Given the description of an element on the screen output the (x, y) to click on. 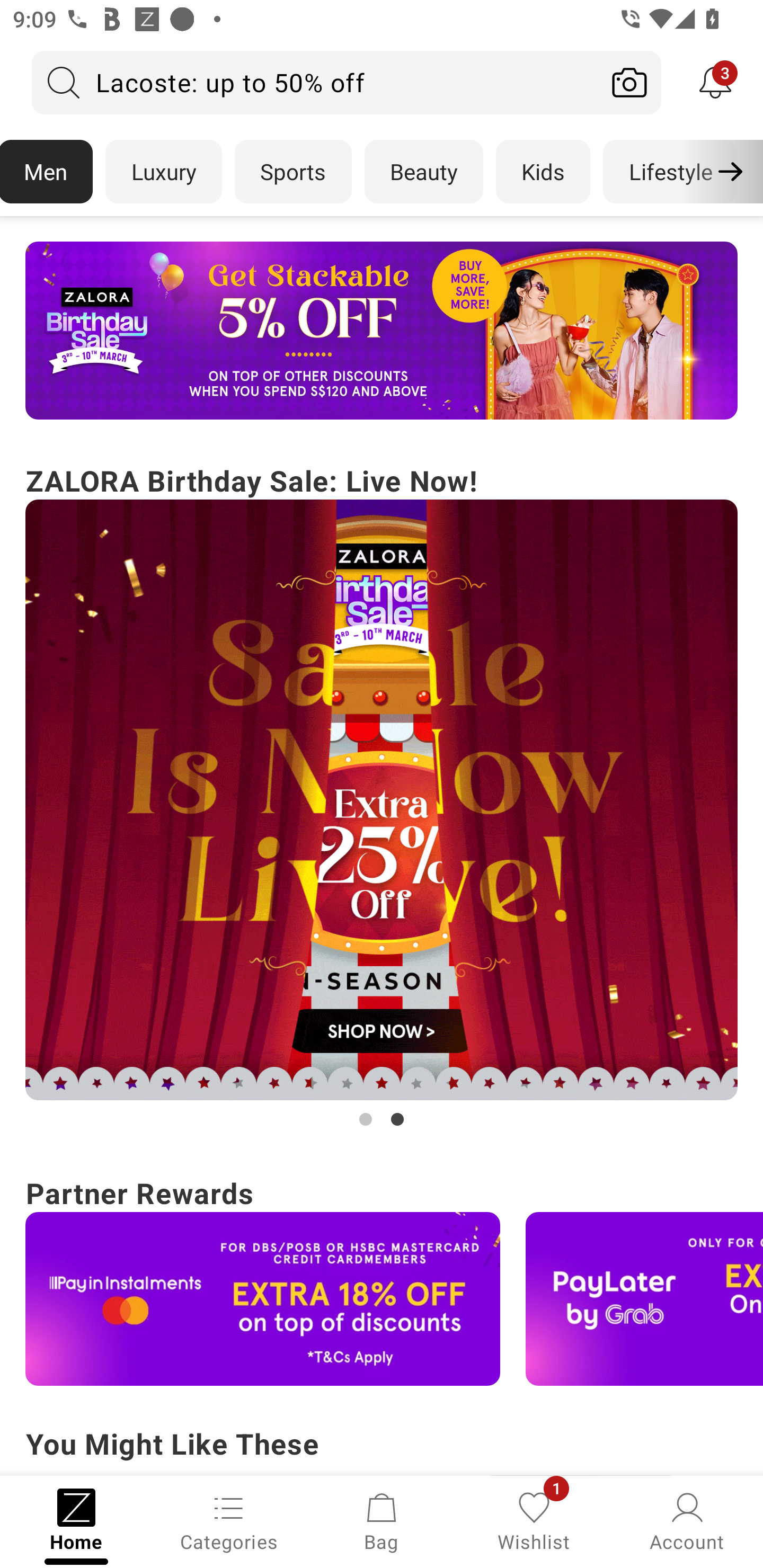
Lacoste: up to 50% off (314, 82)
Men (46, 171)
Luxury (163, 171)
Sports (293, 171)
Beauty (423, 171)
Kids (542, 171)
Lifestyle (669, 171)
Campaign banner (381, 330)
ZALORA Birthday Sale: Live Now! Campaign banner (381, 794)
Campaign banner (381, 800)
Partner Rewards Campaign banner Campaign banner (381, 1277)
Campaign banner (262, 1299)
Campaign banner (644, 1299)
Categories (228, 1519)
Bag (381, 1519)
Wishlist, 1 new notification Wishlist (533, 1519)
Account (686, 1519)
